Given the description of an element on the screen output the (x, y) to click on. 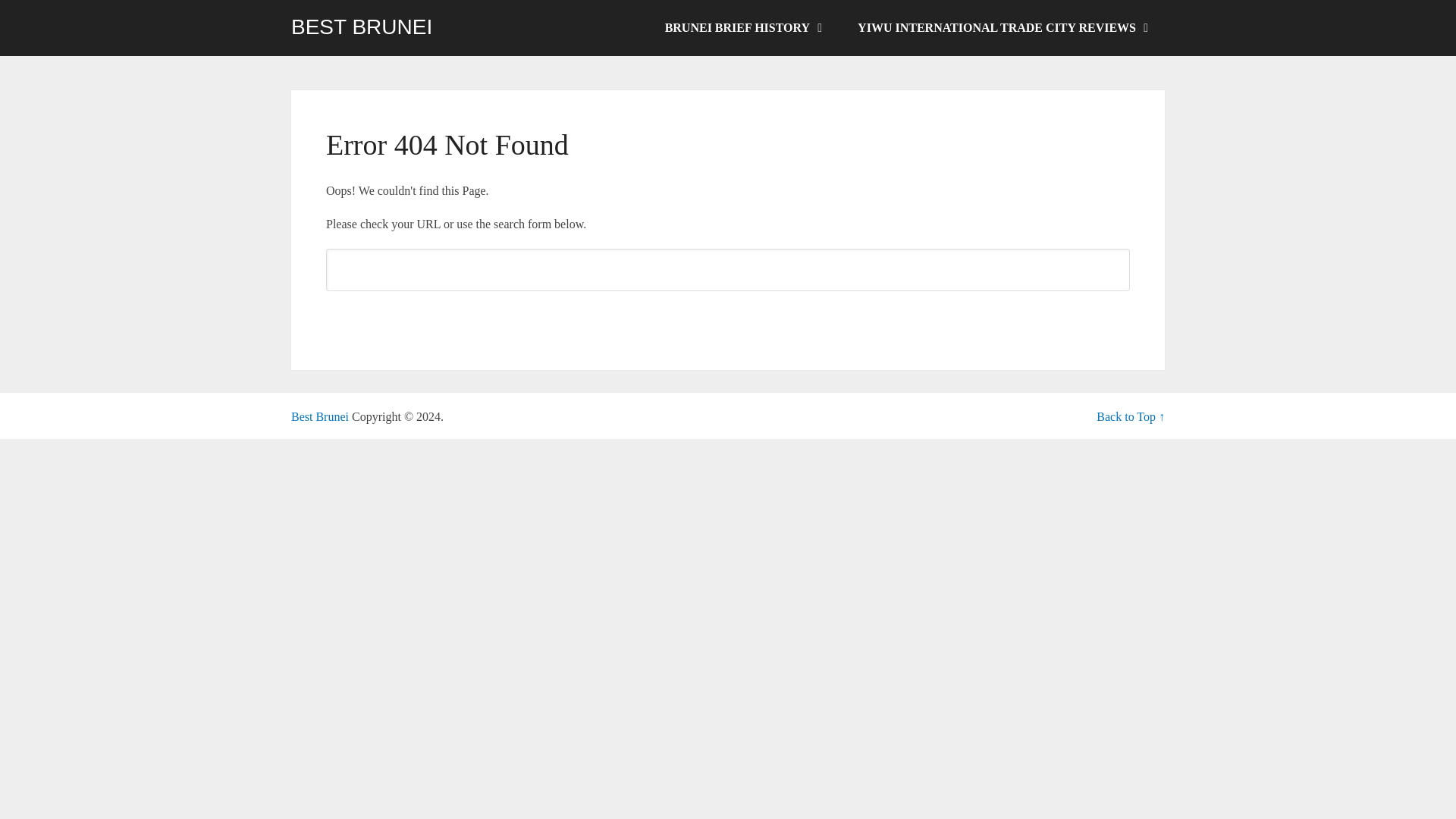
Best Brunei (320, 416)
Search (727, 316)
BEST BRUNEI (361, 26)
BRUNEI BRIEF HISTORY (742, 28)
Search (727, 316)
YIWU INTERNATIONAL TRADE CITY REVIEWS (1001, 28)
